Given the description of an element on the screen output the (x, y) to click on. 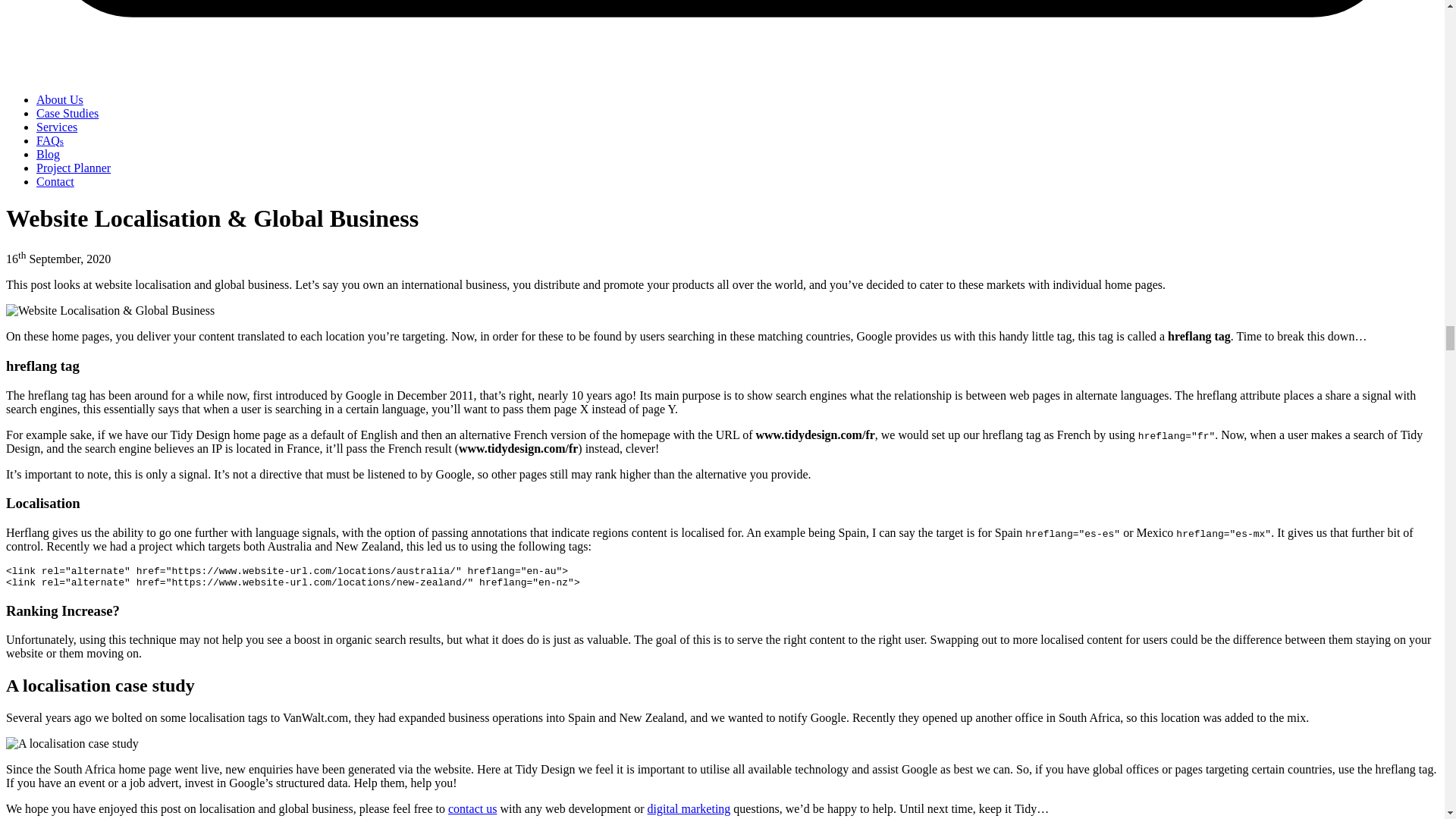
About Us (59, 99)
Case Studies (67, 113)
Contact (55, 181)
Blog (47, 154)
Services (56, 126)
FAQs (50, 140)
digital marketing (688, 808)
contact us (472, 808)
Project Planner (73, 167)
